Given the description of an element on the screen output the (x, y) to click on. 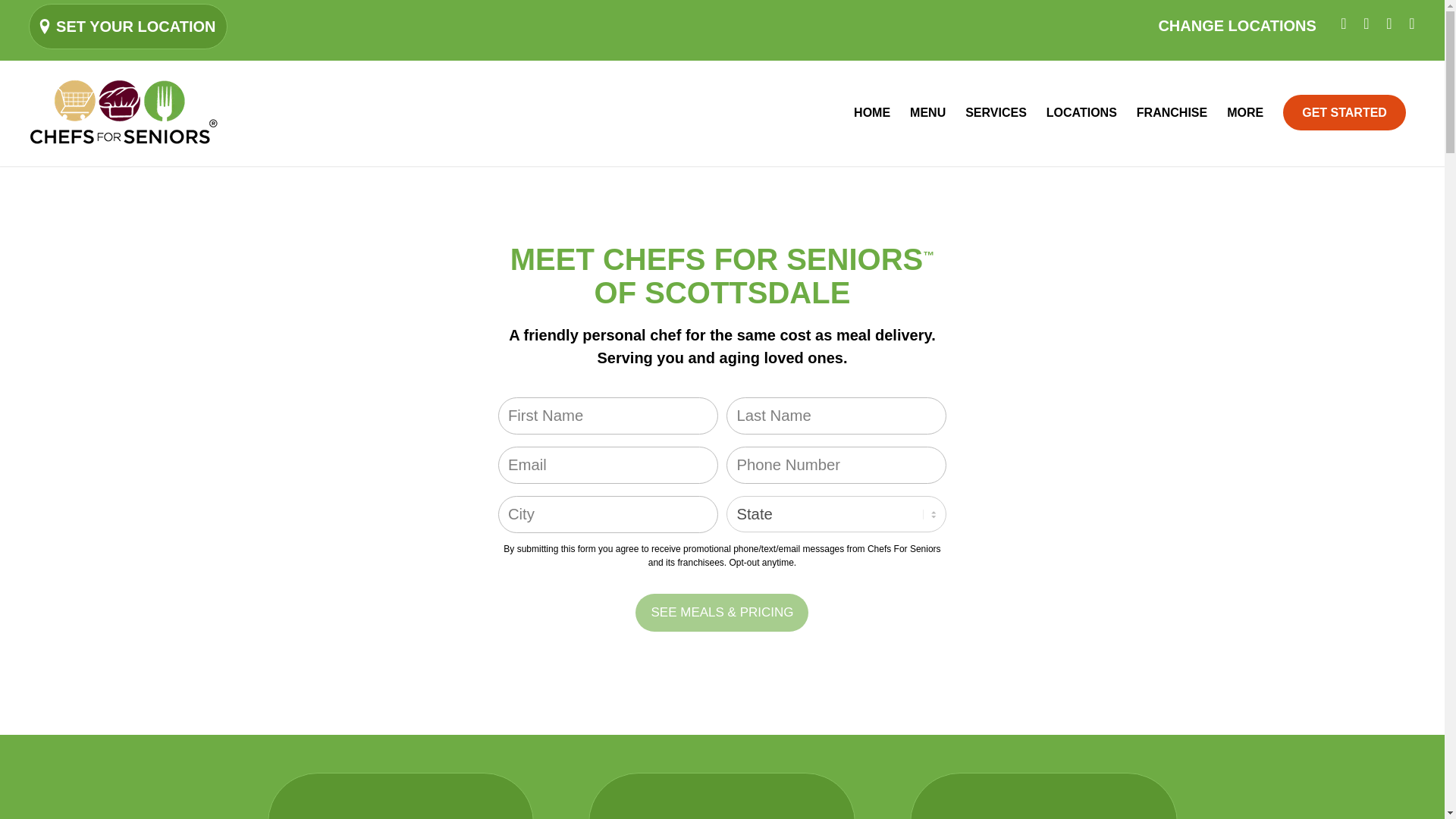
LinkedIn (1388, 24)
GET STARTED (1343, 112)
CHANGE LOCATIONS (1236, 25)
Instagram (1366, 24)
Facebook (1343, 24)
Youtube (1411, 24)
SET YOUR LOCATION (135, 26)
Get Started (1343, 112)
